Given the description of an element on the screen output the (x, y) to click on. 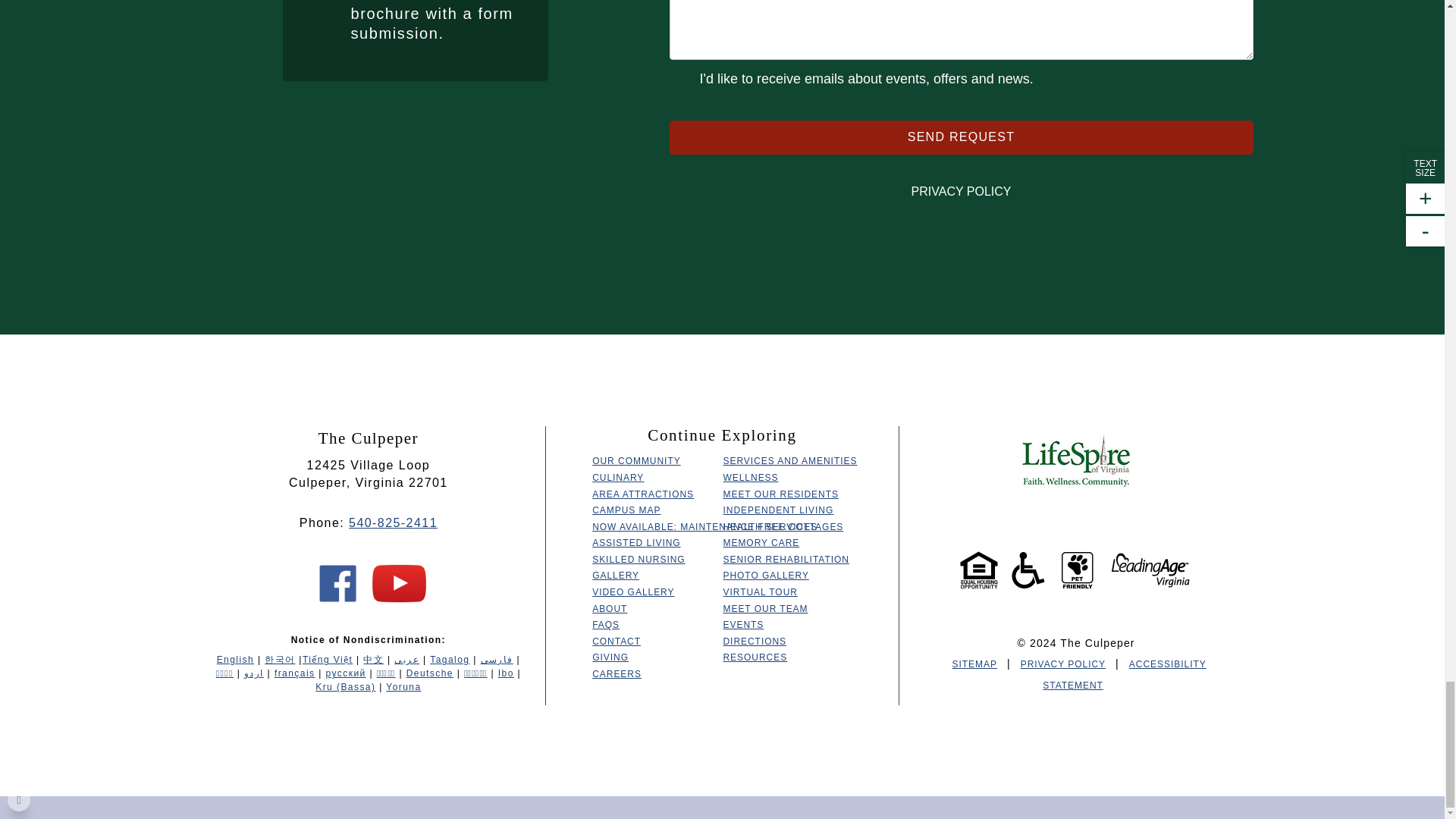
Send Request (960, 137)
540-825-2411 (393, 522)
Send Request (960, 137)
PRIVACY POLICY (960, 190)
